Given the description of an element on the screen output the (x, y) to click on. 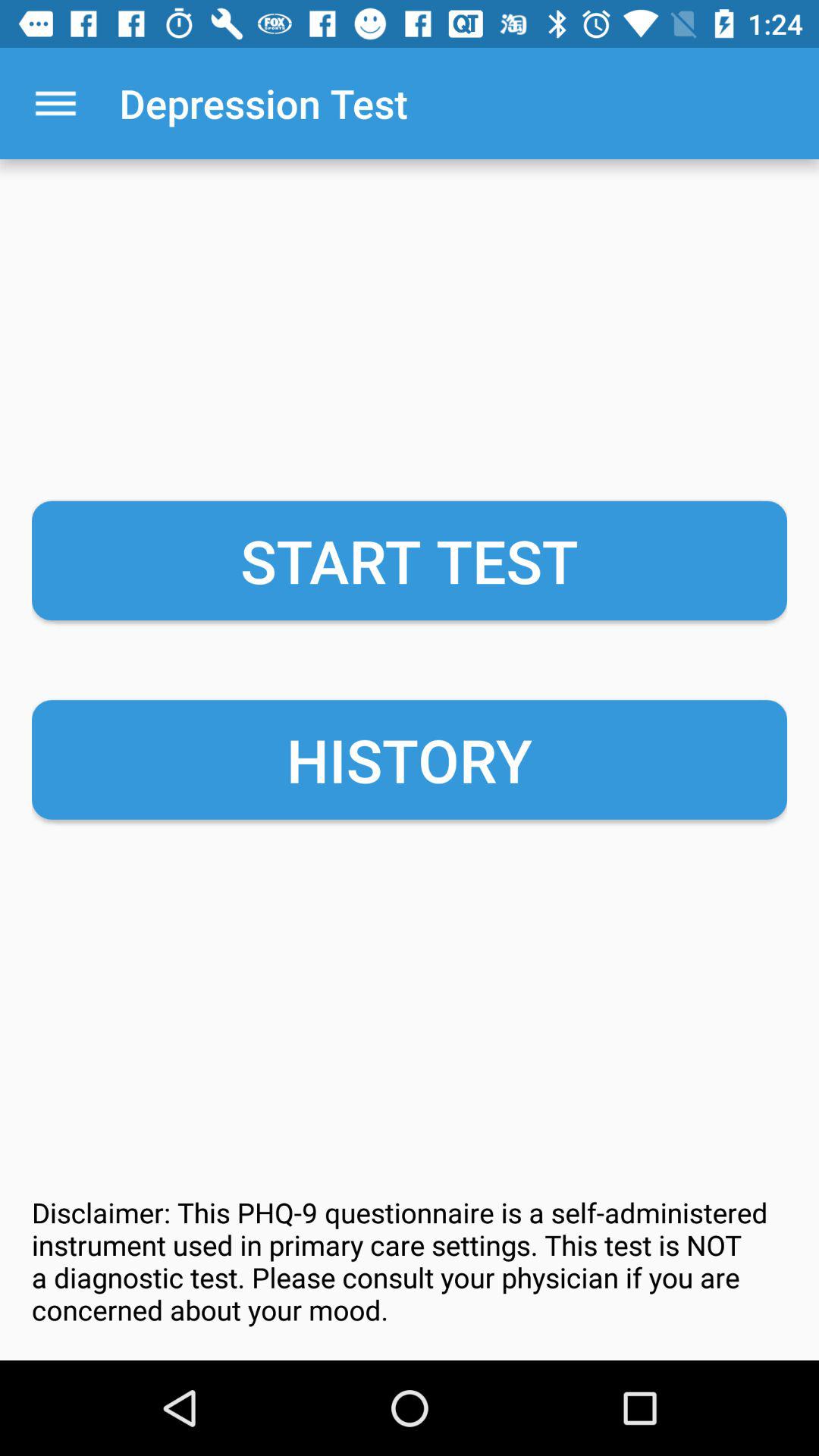
press history button (409, 759)
